Given the description of an element on the screen output the (x, y) to click on. 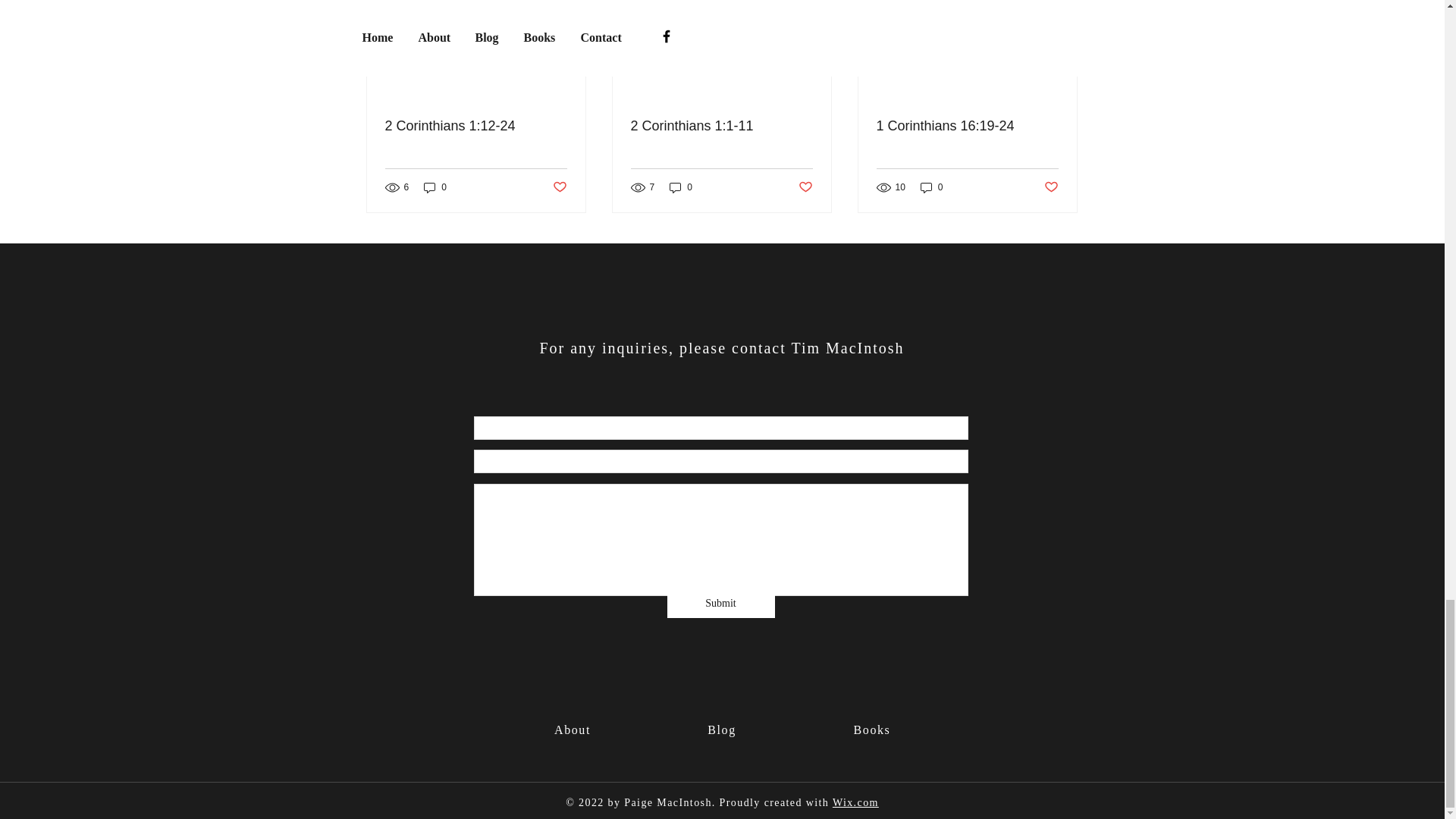
Post not marked as liked (1050, 187)
About (572, 729)
Post not marked as liked (558, 187)
2 Corinthians 1:12-24 (476, 125)
2 Corinthians 1:1-11 (721, 125)
Wix.com (855, 802)
0 (931, 187)
Blog (721, 729)
Books (872, 729)
0 (681, 187)
